Given the description of an element on the screen output the (x, y) to click on. 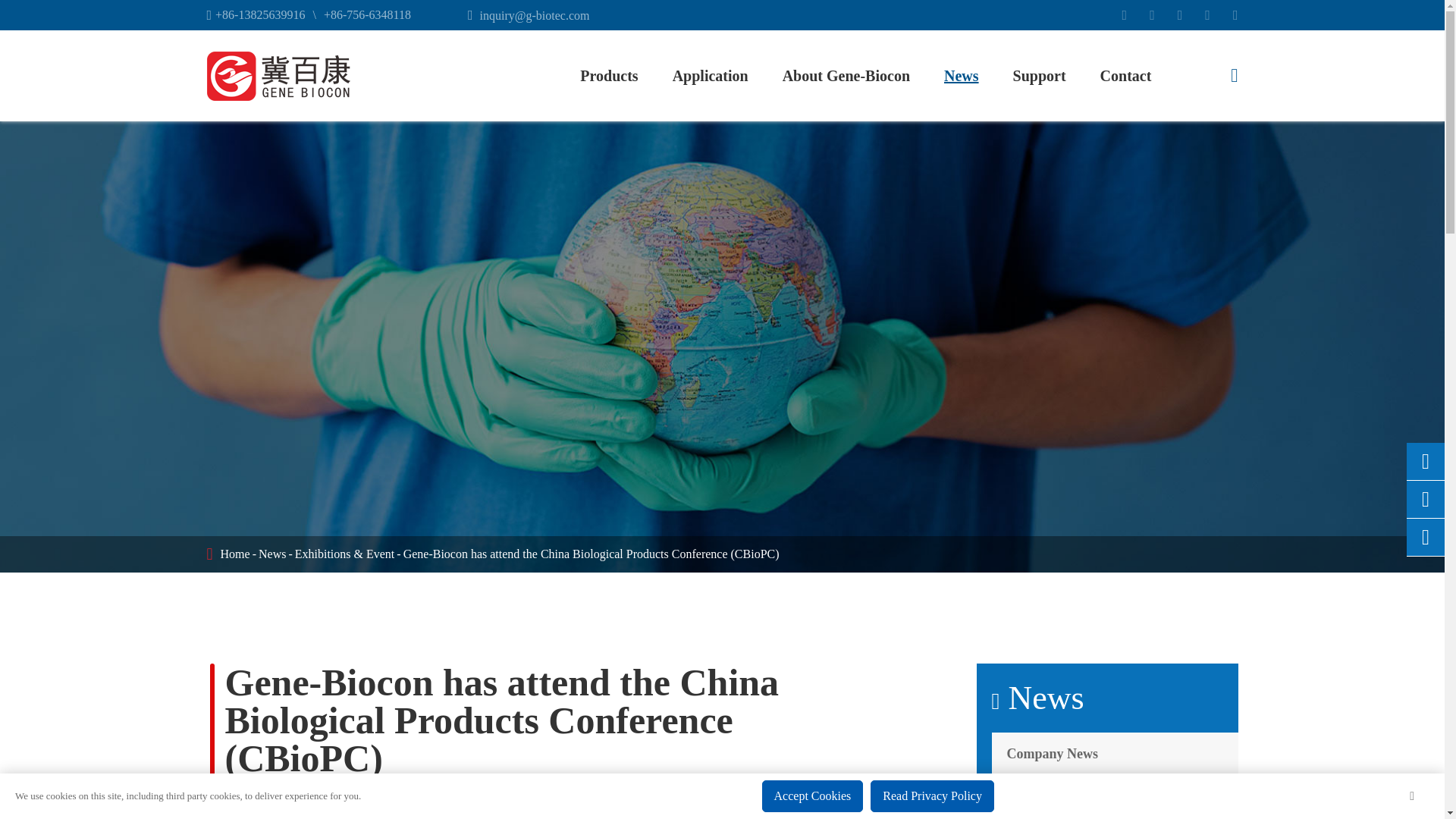
Zhuhai Gene-Biocon Biological Technology Co., Ltd. (277, 75)
News (272, 554)
